Given the description of an element on the screen output the (x, y) to click on. 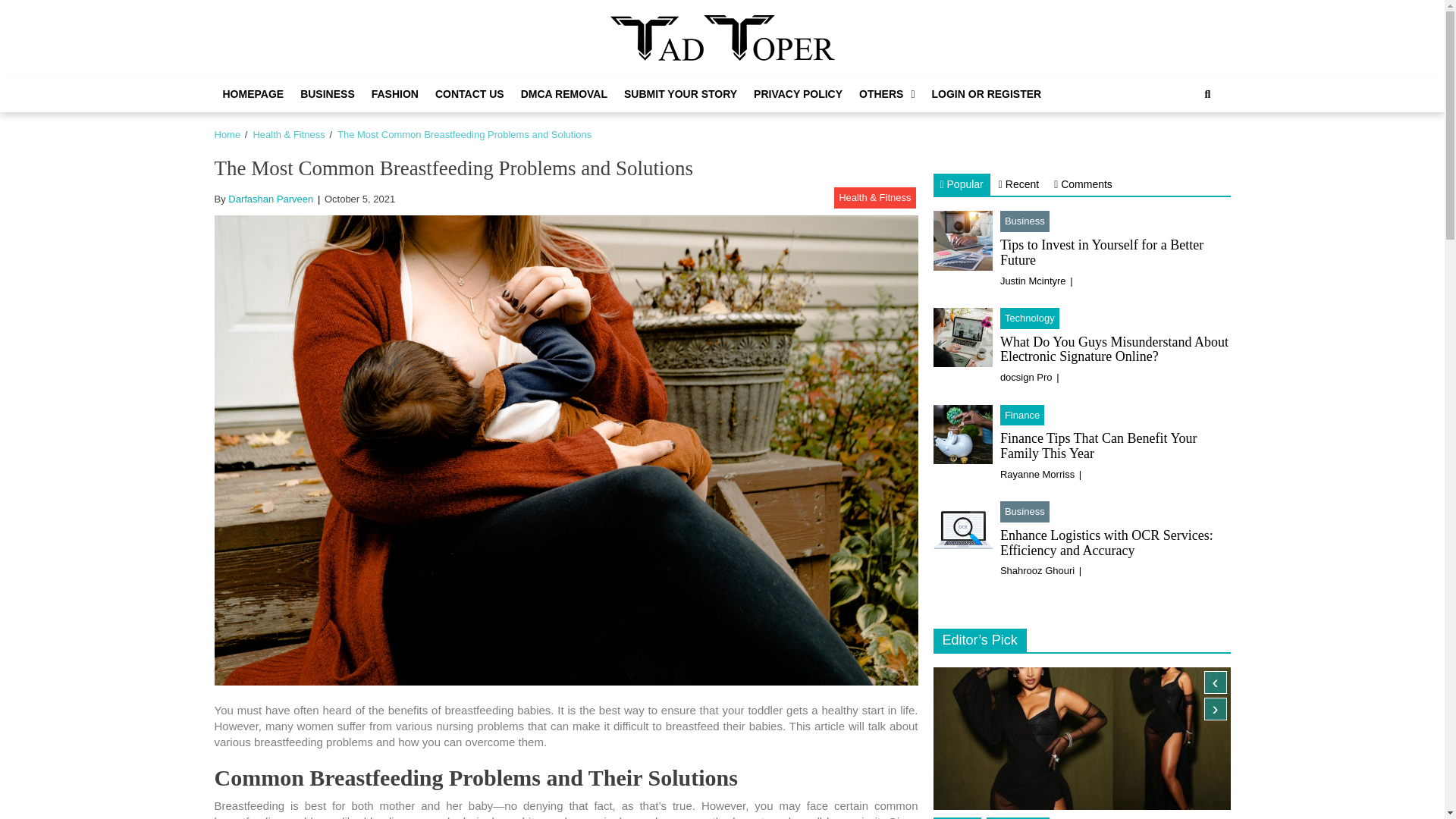
BUSINESS (327, 94)
SUBMIT YOUR STORY (680, 94)
Tad Toper (673, 77)
LOGIN OR REGISTER (986, 94)
Darfashan Parveen (270, 198)
HOMEPAGE (253, 94)
FASHION (394, 94)
CONTACT US (469, 94)
PRIVACY POLICY (797, 94)
Search (1191, 145)
OTHERS (886, 94)
DMCA REMOVAL (563, 94)
Home (227, 134)
Search (1207, 94)
The Most Common Breastfeeding Problems and Solutions (464, 134)
